Given the description of an element on the screen output the (x, y) to click on. 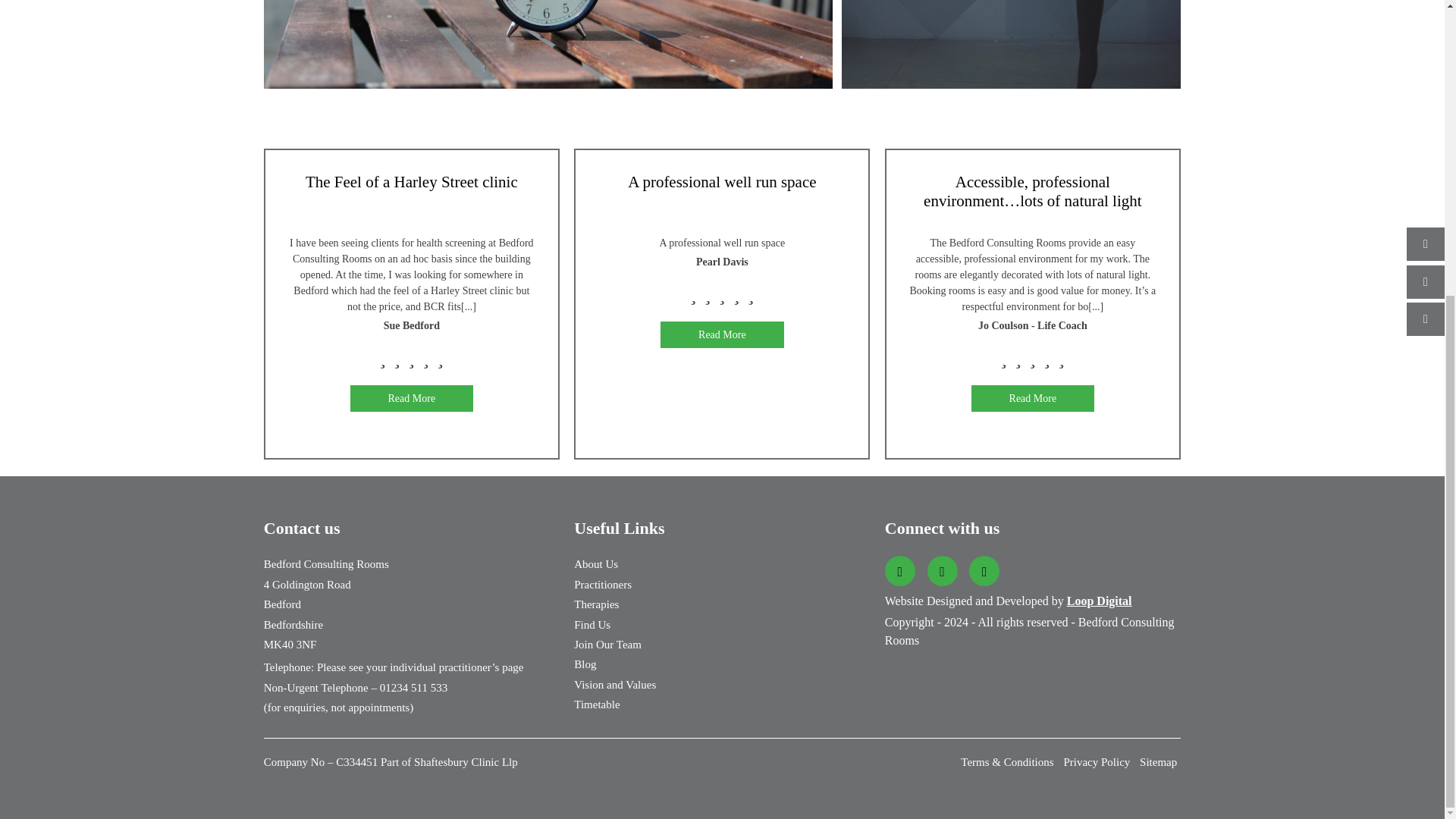
The Feel of a Harley Street clinic (411, 196)
Page Link (547, 44)
Read More (412, 397)
Practitioners (602, 584)
01234 511 533 (413, 687)
Read More (1032, 397)
Read More (722, 334)
A professional well run space (721, 196)
About Us (595, 563)
Class Timetables (547, 44)
